Given the description of an element on the screen output the (x, y) to click on. 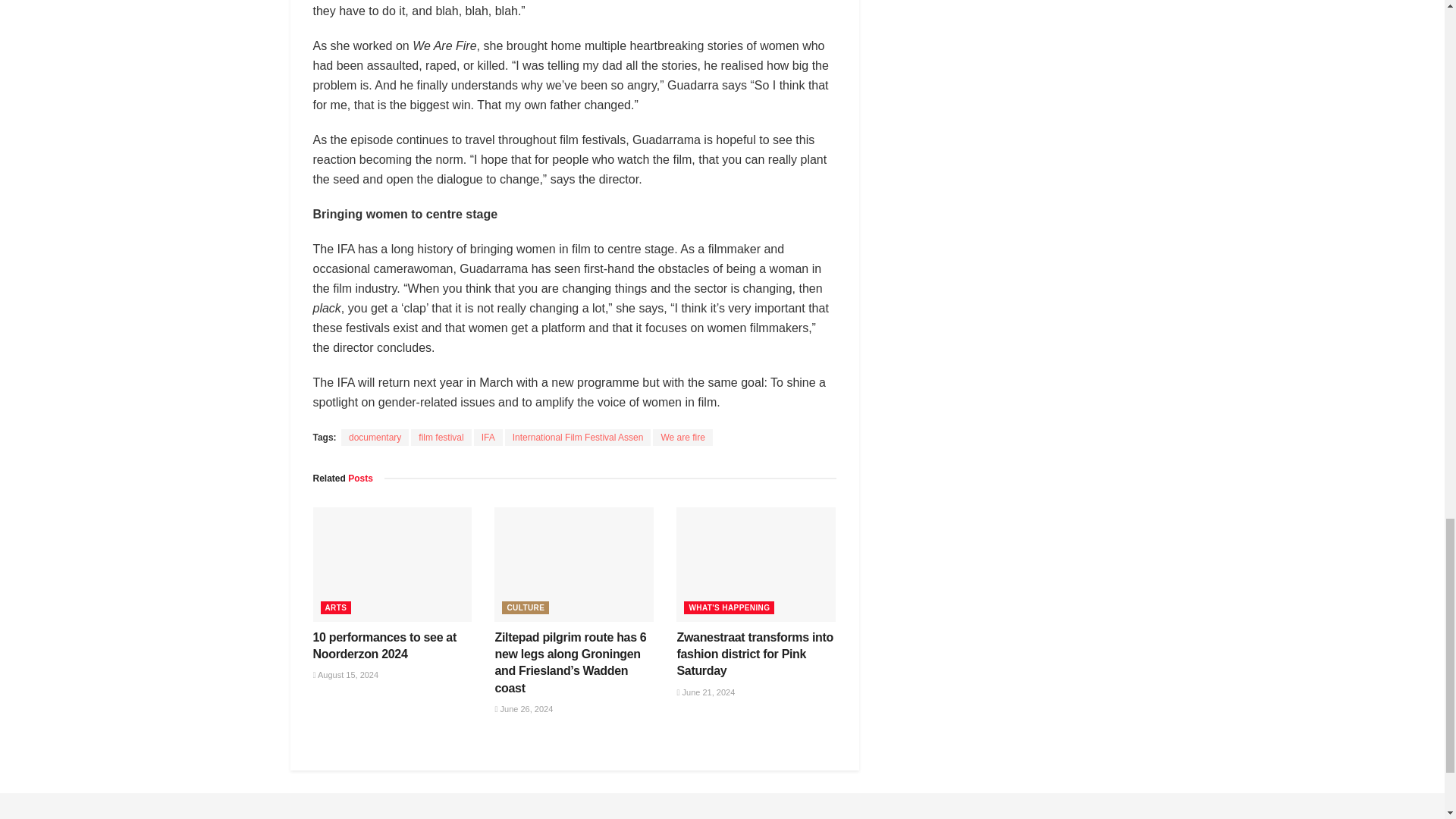
film festival (440, 437)
IFA (488, 437)
documentary (374, 437)
